Given the description of an element on the screen output the (x, y) to click on. 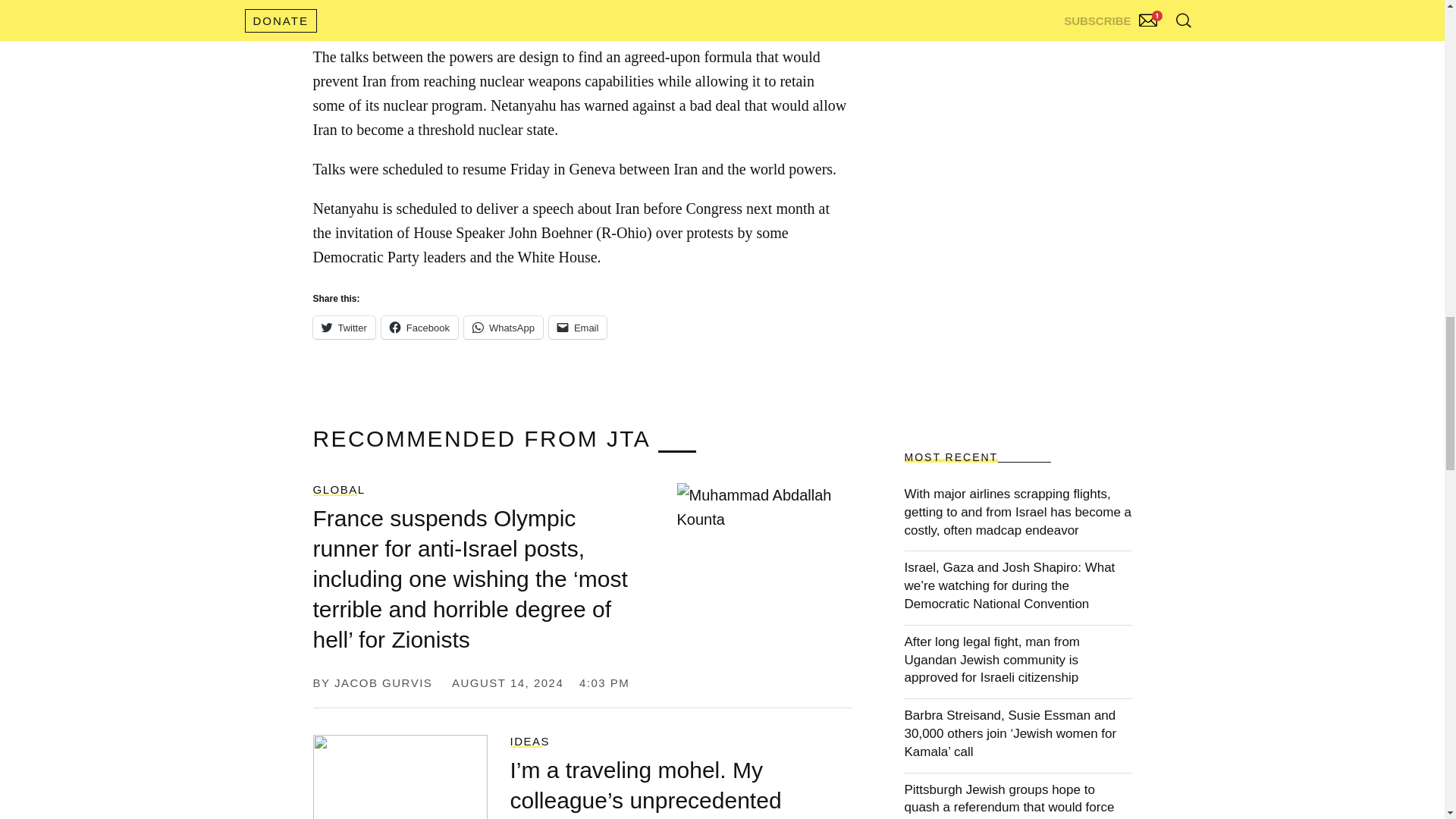
Click to share on Facebook (419, 327)
Click to email a link to a friend (577, 327)
Click to share on Twitter (343, 327)
Click to share on WhatsApp (503, 327)
